Given the description of an element on the screen output the (x, y) to click on. 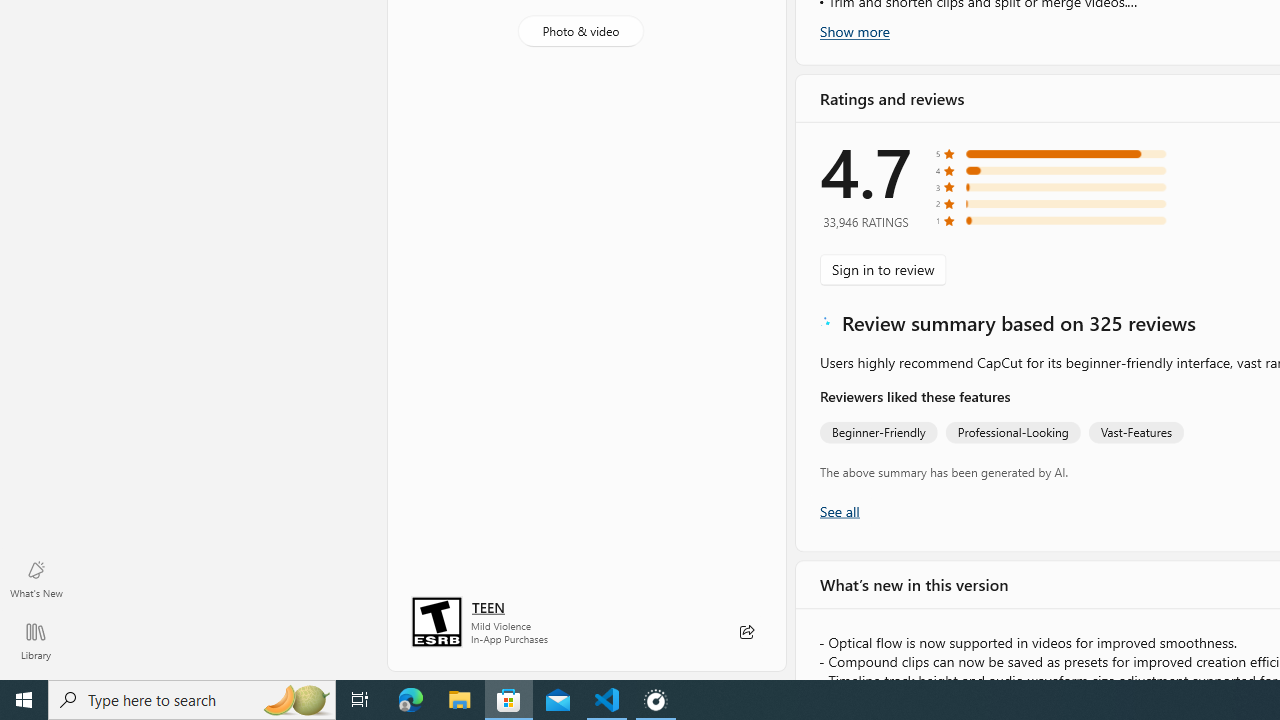
Age rating: TEEN. Click for more information. (488, 606)
Show all ratings and reviews (838, 529)
Share (746, 632)
Photo & video (579, 30)
Sign in to review (882, 269)
Show more (854, 31)
